Given the description of an element on the screen output the (x, y) to click on. 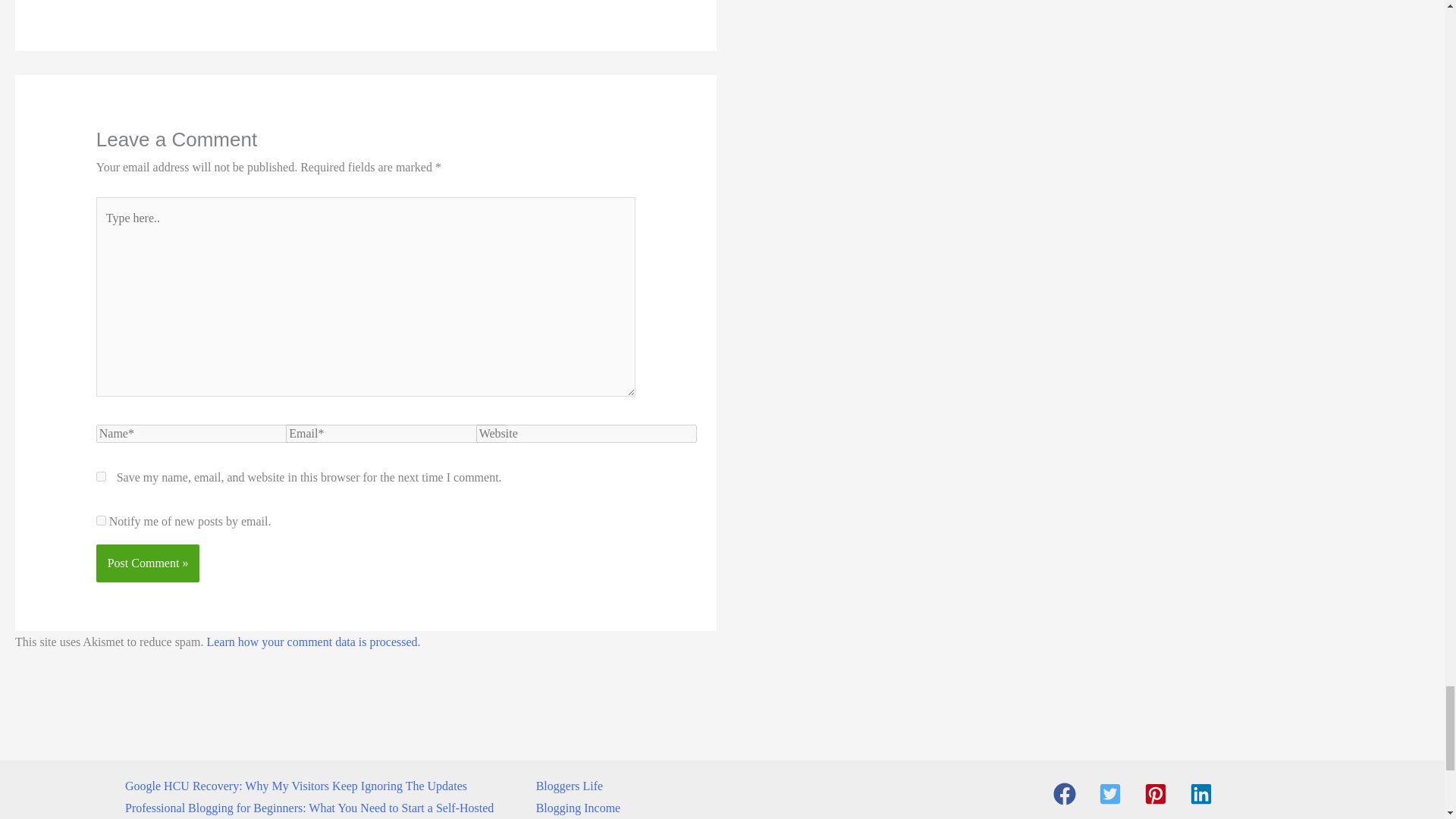
subscribe (101, 520)
yes (101, 476)
